Given the description of an element on the screen output the (x, y) to click on. 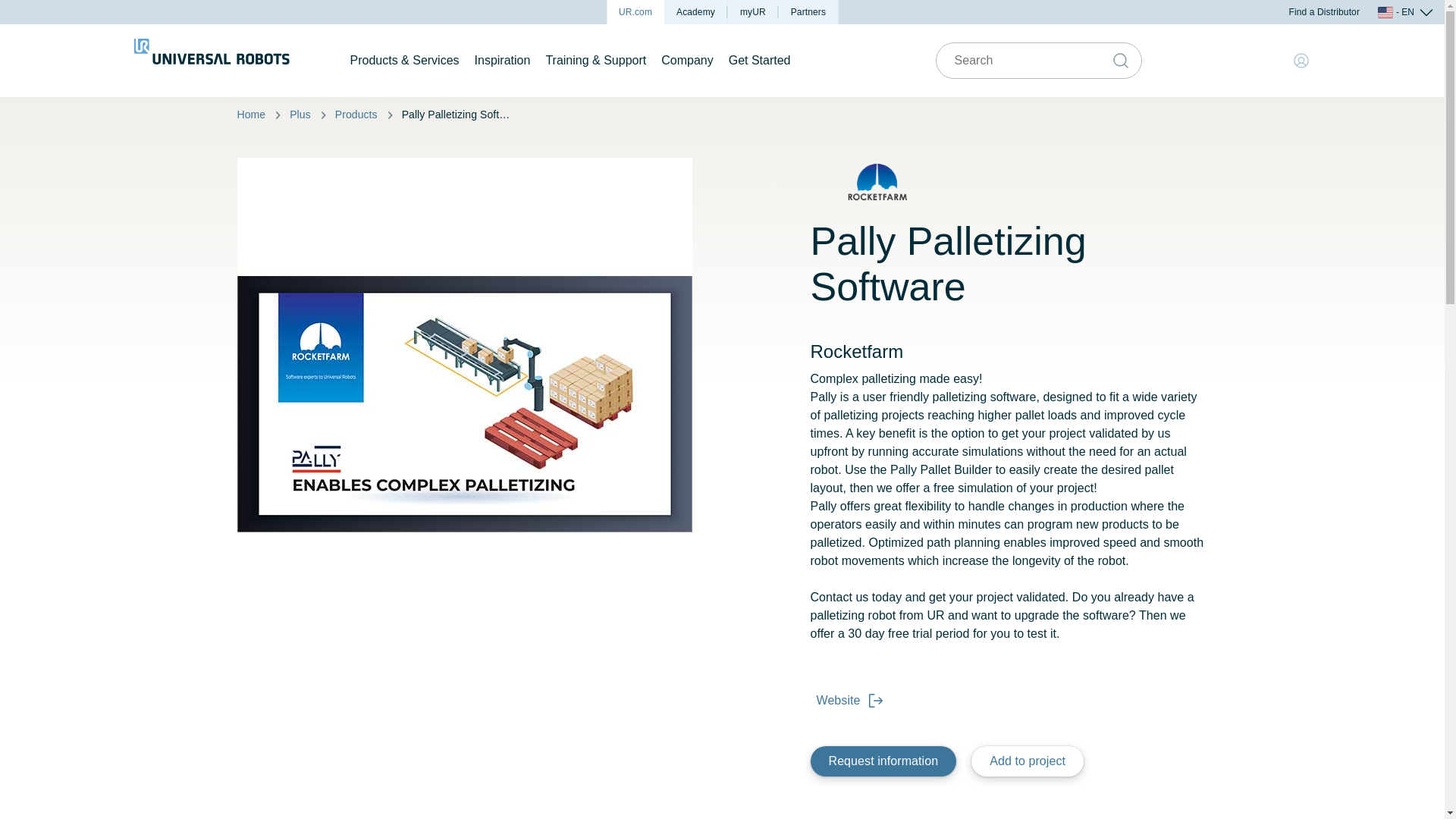
UR.com (635, 12)
myUR (753, 12)
Website (846, 700)
Pally Palletizing Software (458, 115)
Academy (695, 12)
UR.com (635, 12)
Request information (882, 761)
Pally Palletizing Software (458, 115)
Add to project (1027, 761)
Home (249, 115)
Universal Robots (210, 60)
Find a Distributor (1323, 12)
Request information (882, 761)
Partners (808, 12)
myUR (753, 12)
